Given the description of an element on the screen output the (x, y) to click on. 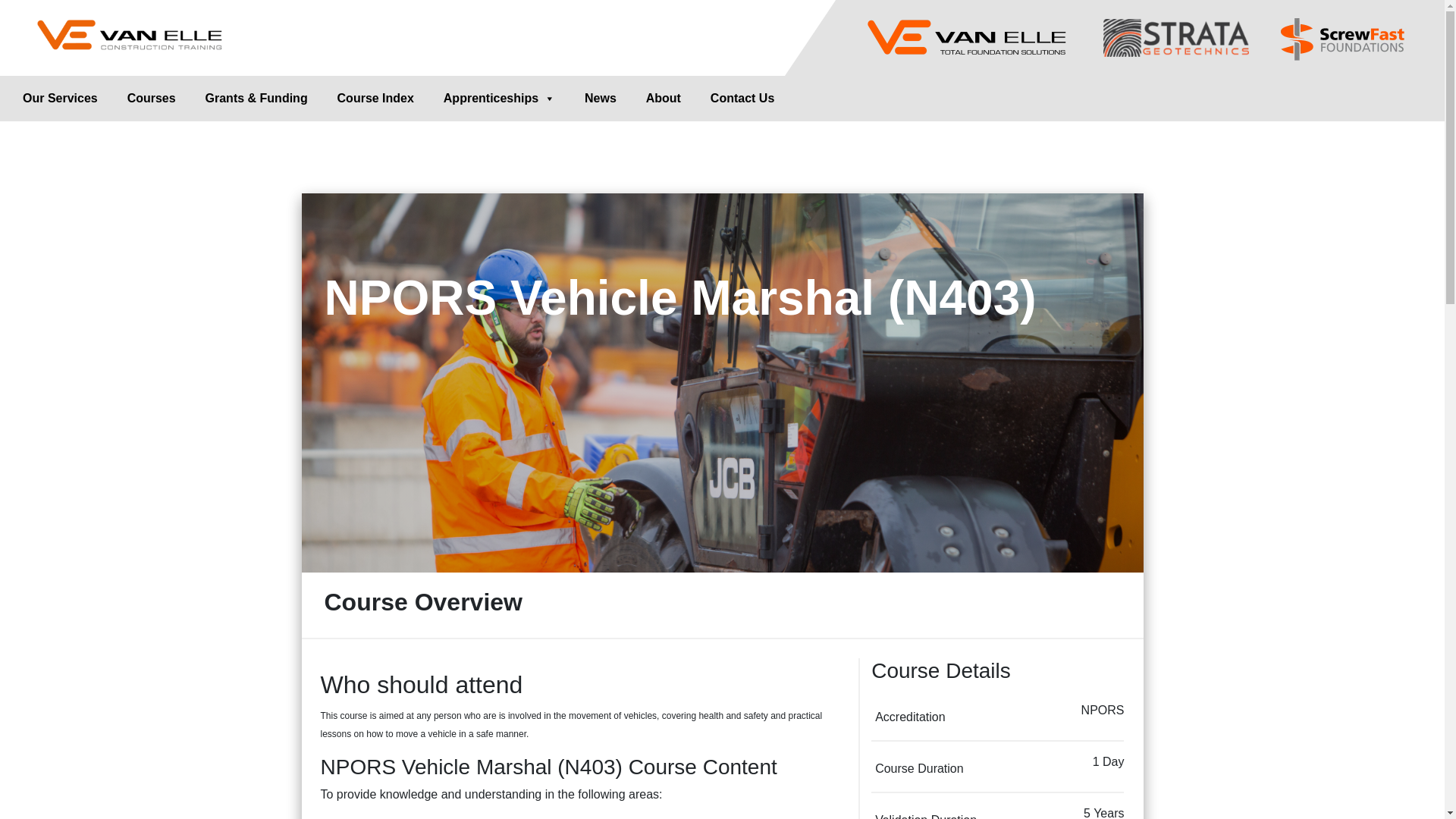
Courses (151, 98)
About (663, 98)
Our Services (59, 98)
News (600, 98)
Course Index (376, 98)
Contact Us (742, 98)
Apprenticeships (498, 98)
